Given the description of an element on the screen output the (x, y) to click on. 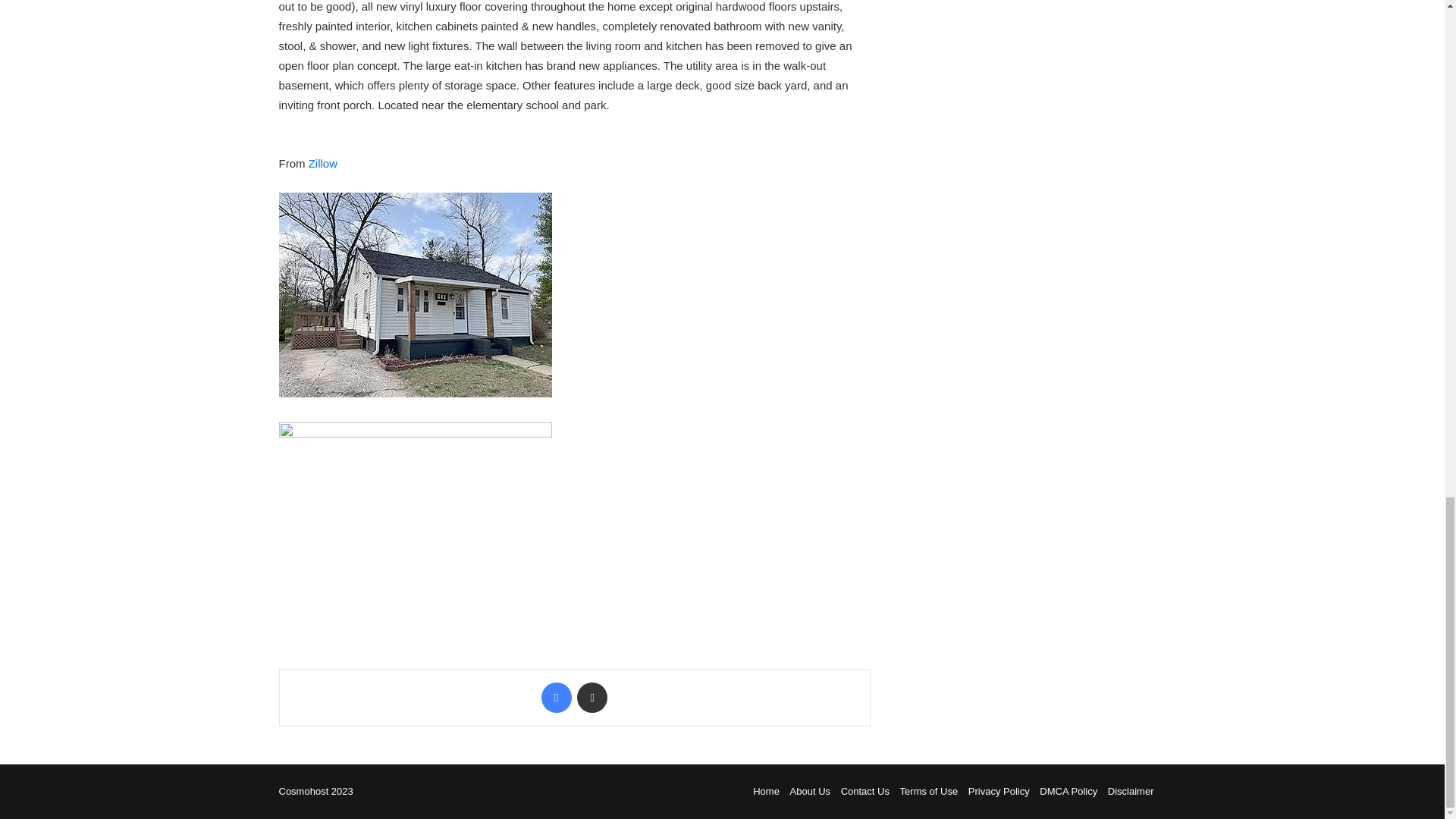
Home (765, 790)
DMCA Policy (1068, 790)
About Us (809, 790)
Disclaimer (1131, 790)
Share via Email (591, 697)
Terms of Use (928, 790)
Contact Us (865, 790)
Privacy Policy (998, 790)
Zillow  (324, 163)
Share via Email (591, 697)
